Given the description of an element on the screen output the (x, y) to click on. 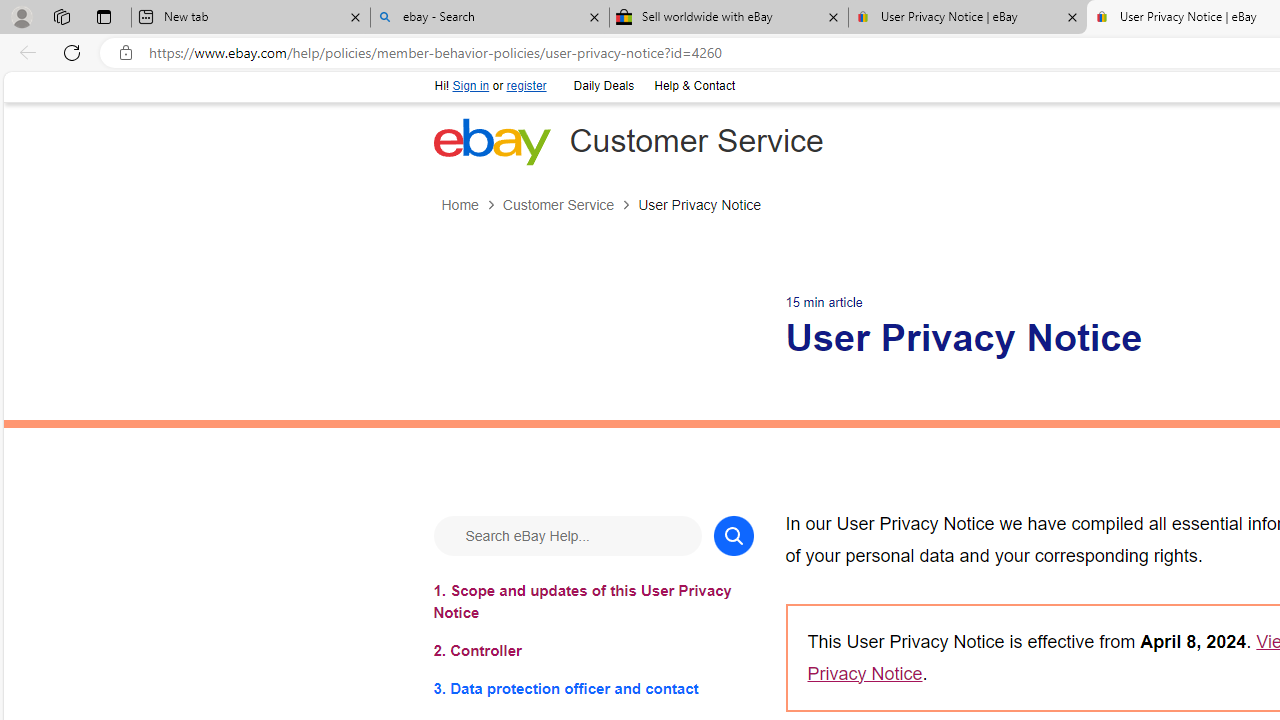
register (525, 85)
1. Scope and updates of this User Privacy Notice (592, 601)
